Given the description of an element on the screen output the (x, y) to click on. 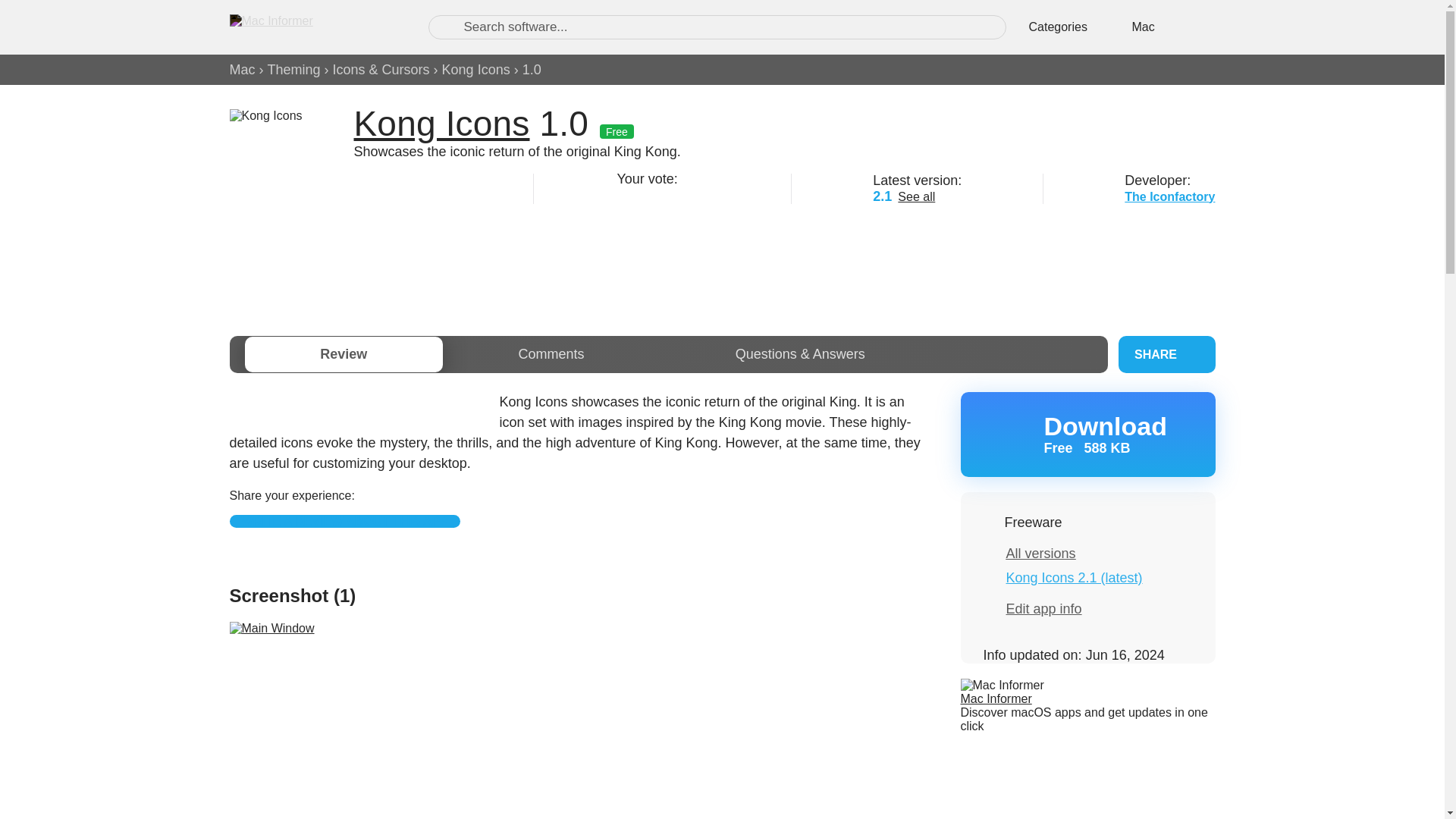
5 (700, 193)
4 (680, 193)
Software downloads and reviews (312, 26)
WRITE A REVIEW ABOUT THIS APP (344, 521)
Theming (1086, 434)
The Iconfactory (293, 69)
1 (1169, 195)
SHARE (623, 193)
Mac (1166, 354)
Kong Icons (241, 69)
3 (476, 69)
Comments (661, 193)
